Given the description of an element on the screen output the (x, y) to click on. 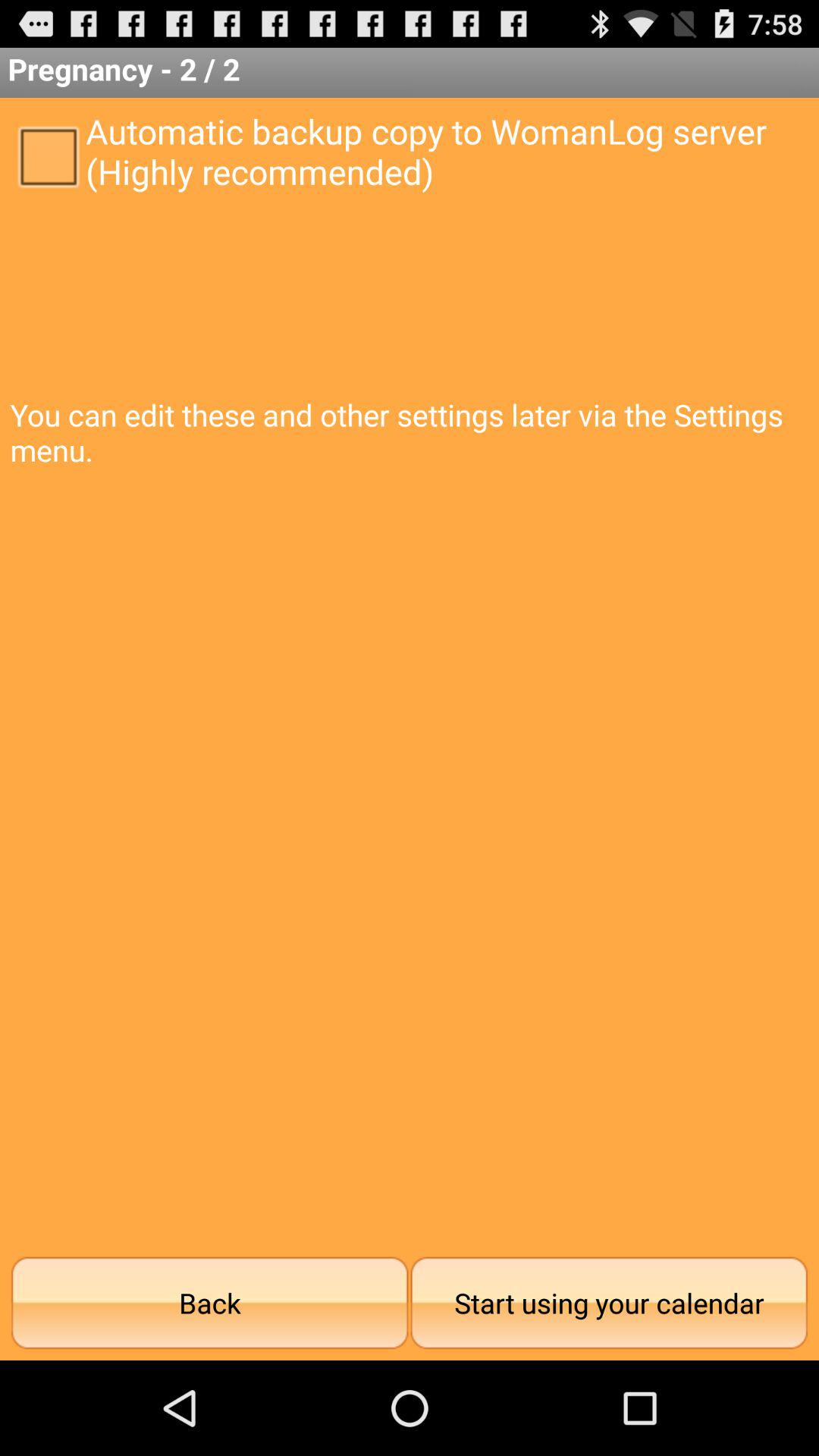
click the item below the you can edit item (209, 1302)
